Given the description of an element on the screen output the (x, y) to click on. 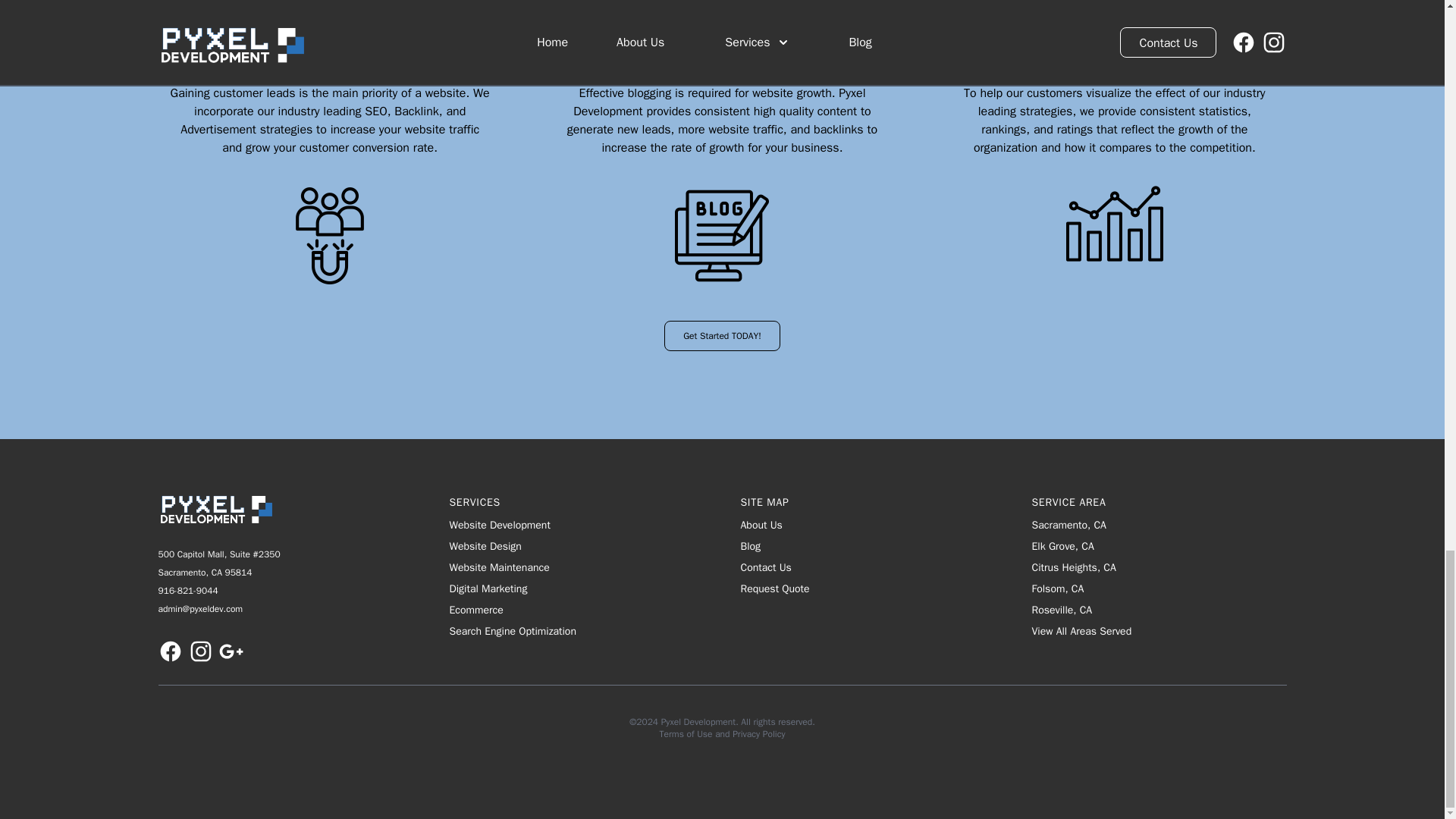
Dallas digital marketing leads (329, 235)
Website Design (575, 546)
916-821-9044 (186, 590)
Digital Marketing (575, 589)
Get Started TODAY! (721, 336)
Instagram (199, 651)
Website Maintenance (575, 567)
About Us (760, 524)
Dallas digital marketing statistics (1114, 223)
Search Engine Optimization (575, 631)
